Given the description of an element on the screen output the (x, y) to click on. 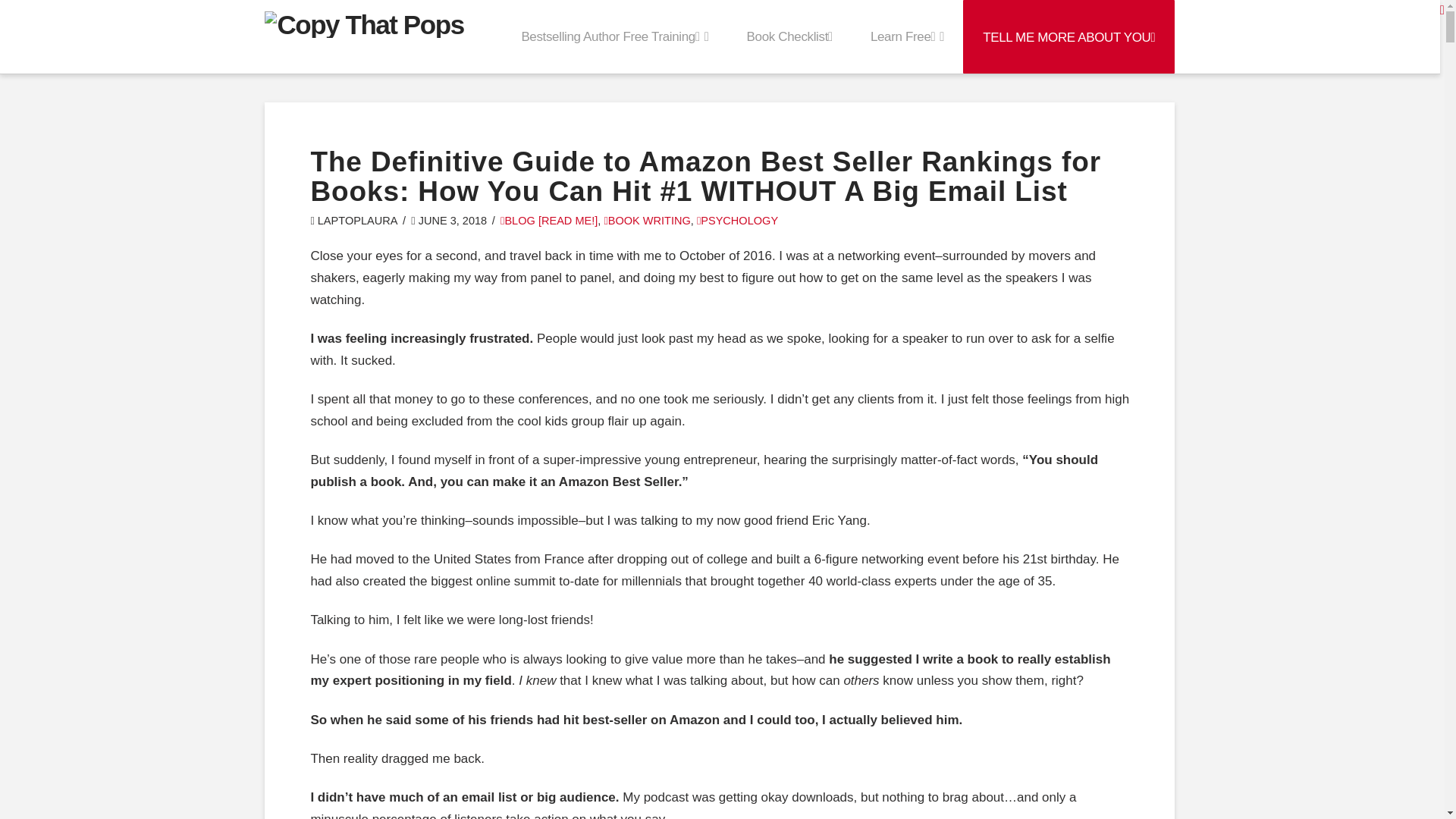
Learn Free (906, 36)
TELL ME MORE ABOUT YOU (1068, 36)
Book Checklist (789, 36)
Bestselling Author Free Training (614, 36)
